Given the description of an element on the screen output the (x, y) to click on. 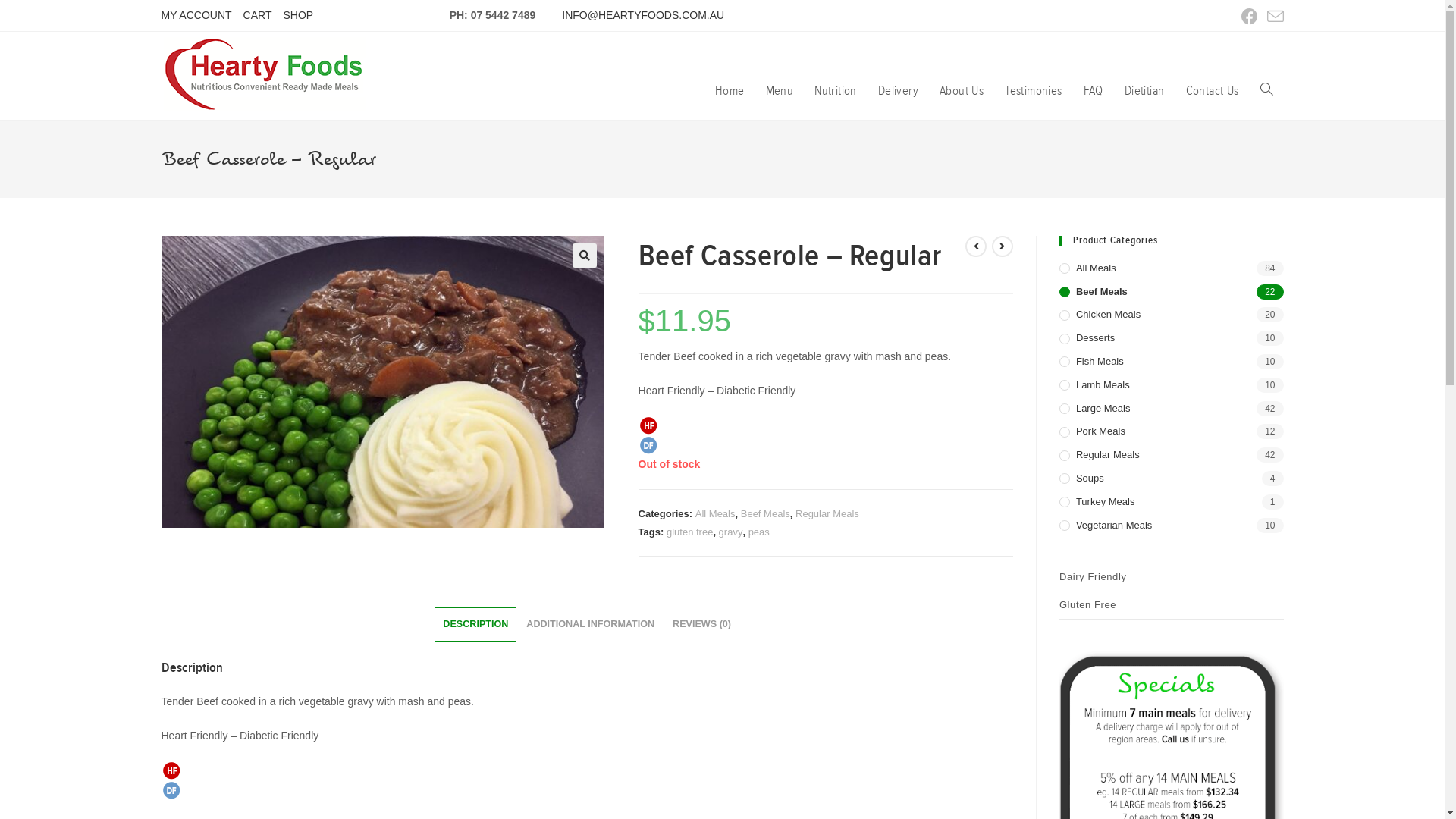
Contact Us Element type: text (1212, 90)
All Meals Element type: text (715, 513)
Turkey Meals Element type: text (1171, 502)
SHOP Element type: text (297, 15)
ADDITIONAL INFORMATION Element type: text (590, 624)
Menu Element type: text (779, 90)
Chicken Meals Element type: text (1171, 315)
Beef Casserole Element type: hover (381, 381)
gravy Element type: text (730, 531)
CART Element type: text (257, 15)
Delivery Element type: text (897, 90)
All Meals Element type: text (1171, 268)
Dairy Friendly Element type: text (1171, 576)
Home Element type: text (729, 90)
Lamb Meals Element type: text (1171, 385)
Vegetarian Meals Element type: text (1171, 525)
About Us Element type: text (961, 90)
Toggle website search Element type: text (1266, 90)
REVIEWS (0) Element type: text (701, 624)
Beef Meals Element type: text (1171, 292)
INFO@HEARTYFOODS.COM.AU Element type: text (642, 15)
Regular Meals Element type: text (827, 513)
FAQ Element type: text (1093, 90)
Soups Element type: text (1171, 478)
Large Meals Element type: text (1171, 409)
Beef Casserole - Regular 3 Element type: hover (170, 770)
Testimonies Element type: text (1033, 90)
Fish Meals Element type: text (1171, 362)
Desserts Element type: text (1171, 338)
gluten free Element type: text (689, 531)
Gluten Free Element type: text (1171, 604)
Beef Meals Element type: text (765, 513)
Nutrition Element type: text (835, 90)
Dietitian Element type: text (1144, 90)
peas Element type: text (758, 531)
Pork Meals Element type: text (1171, 431)
MY ACCOUNT Element type: text (195, 15)
Beef Casserole - Regular 4 Element type: hover (170, 790)
Regular Meals Element type: text (1171, 455)
DESCRIPTION Element type: text (475, 624)
